Given the description of an element on the screen output the (x, y) to click on. 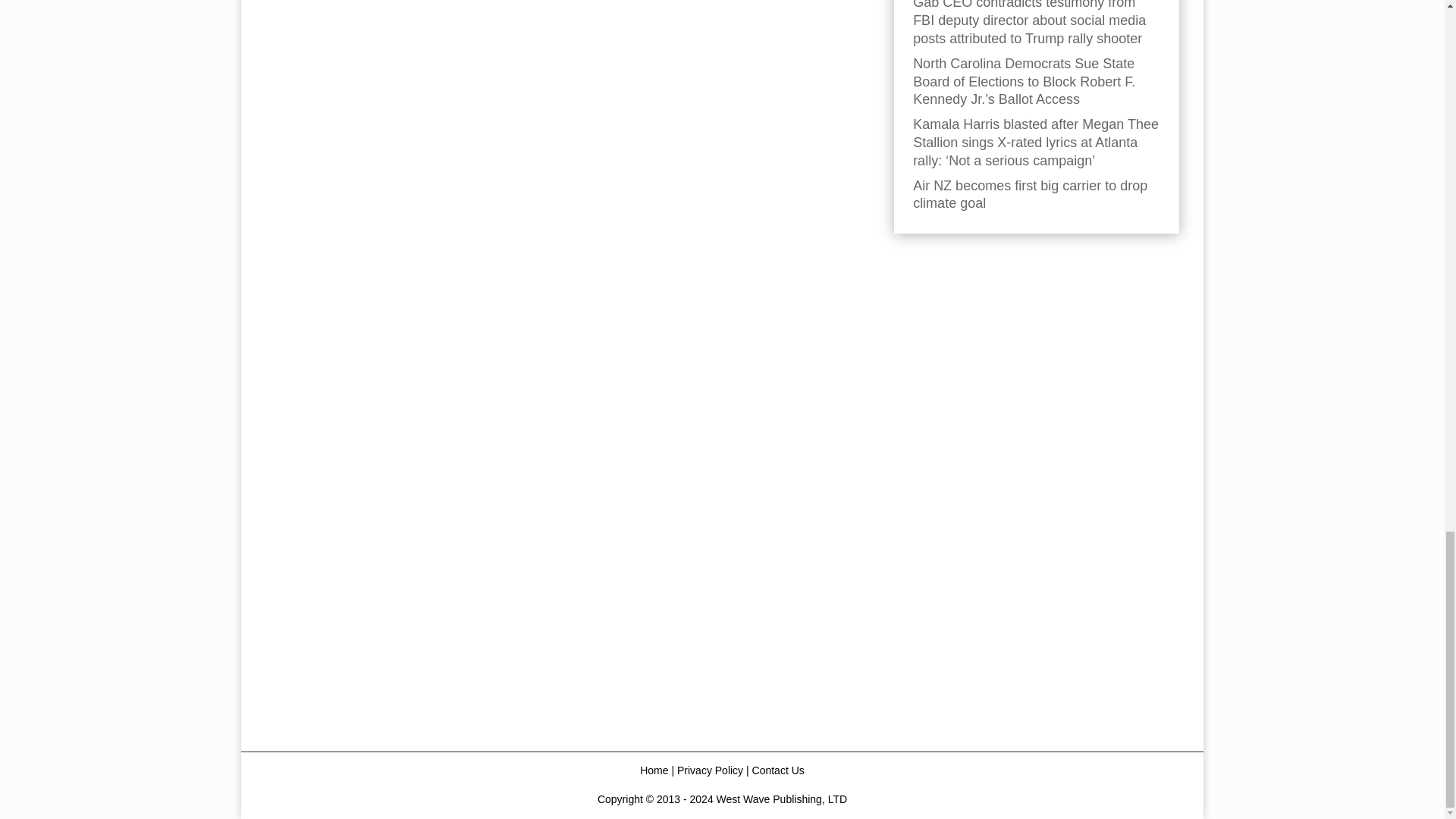
Privacy Policy (709, 770)
Air NZ becomes first big carrier to drop climate goal (1029, 194)
Contact Us (778, 770)
Home (654, 770)
